Given the description of an element on the screen output the (x, y) to click on. 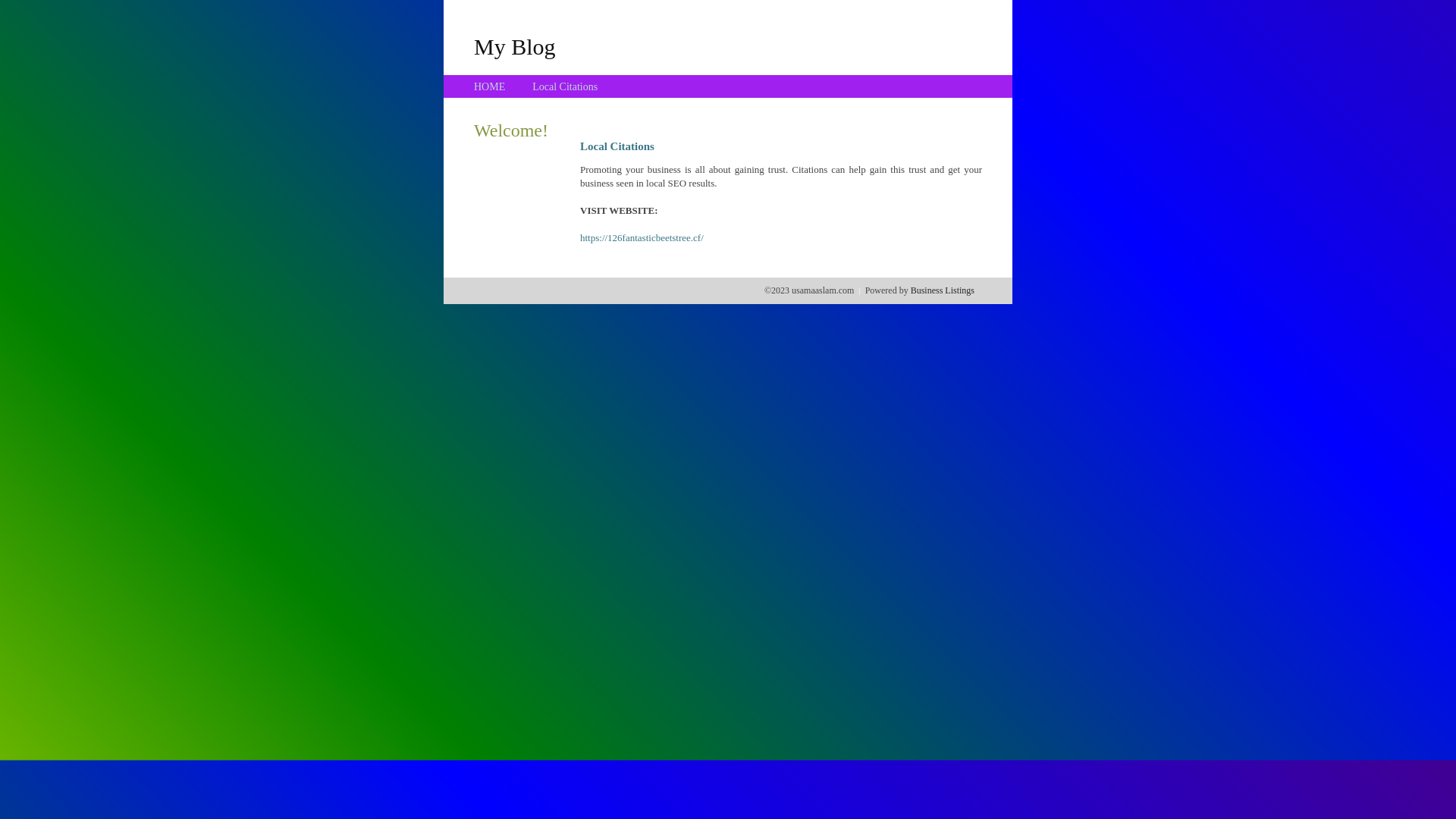
HOME Element type: text (489, 86)
Local Citations Element type: text (564, 86)
My Blog Element type: text (514, 46)
https://126fantasticbeetstree.cf/ Element type: text (641, 237)
Business Listings Element type: text (942, 290)
